Given the description of an element on the screen output the (x, y) to click on. 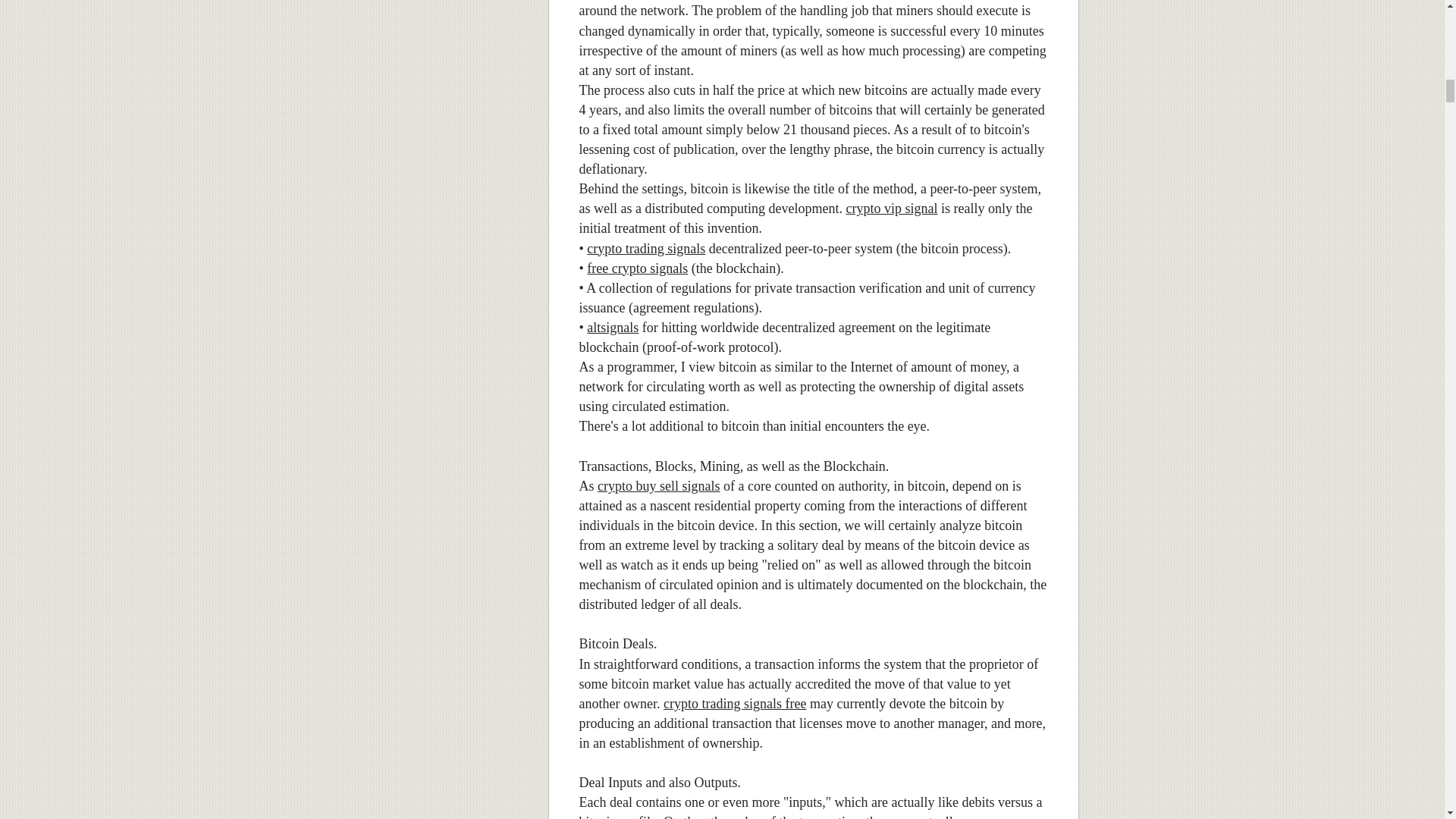
crypto buy sell signals (657, 485)
crypto trading signals (645, 248)
crypto trading signals free (734, 703)
crypto vip signal (891, 208)
altsignals (612, 327)
free crypto signals (636, 268)
